Given the description of an element on the screen output the (x, y) to click on. 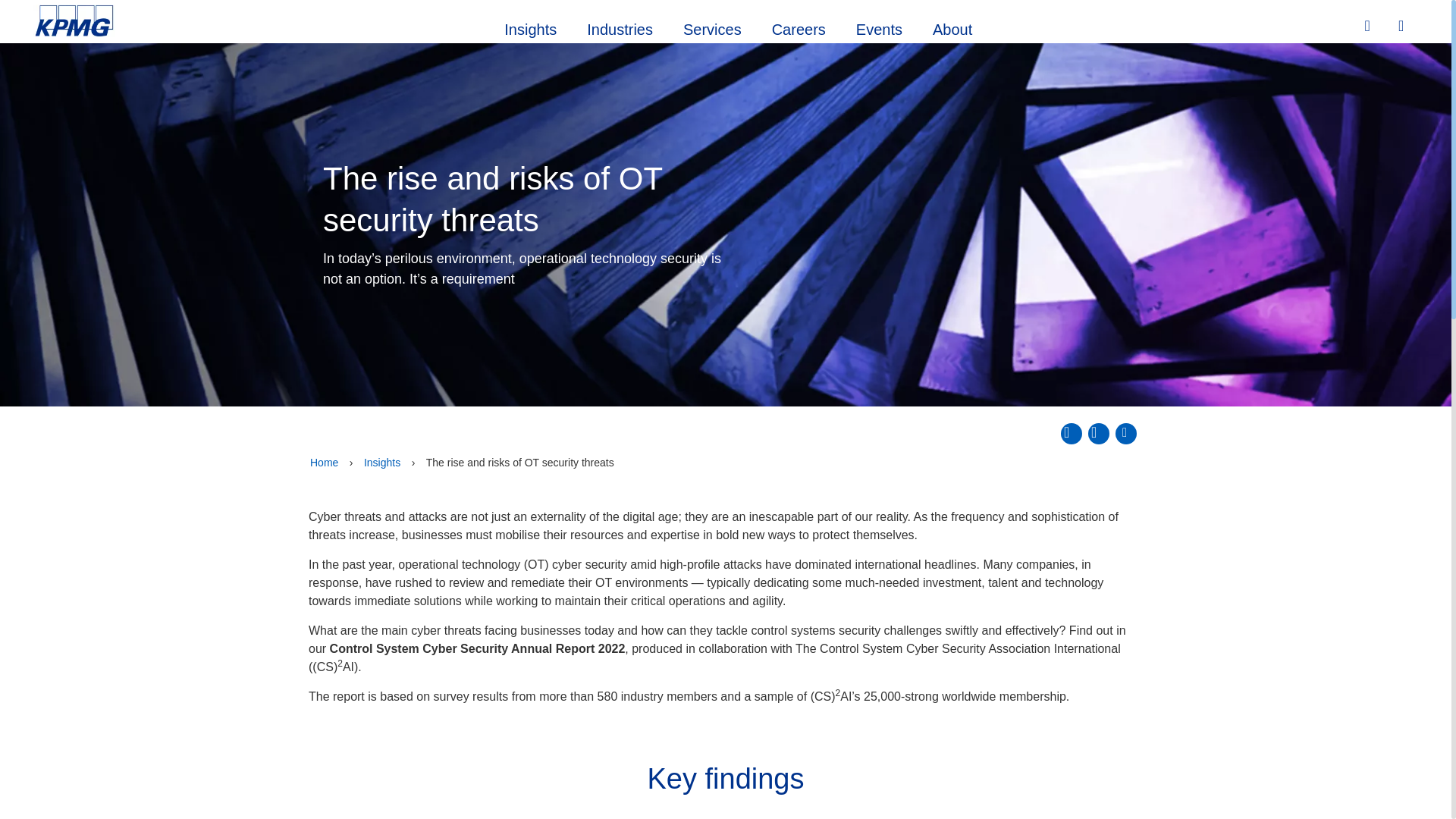
Home (323, 462)
Careers (799, 27)
Go to bottom of page (1126, 433)
Industries (620, 27)
Services (712, 27)
Insights (530, 27)
Site Selector (1402, 26)
About (952, 27)
